Given the description of an element on the screen output the (x, y) to click on. 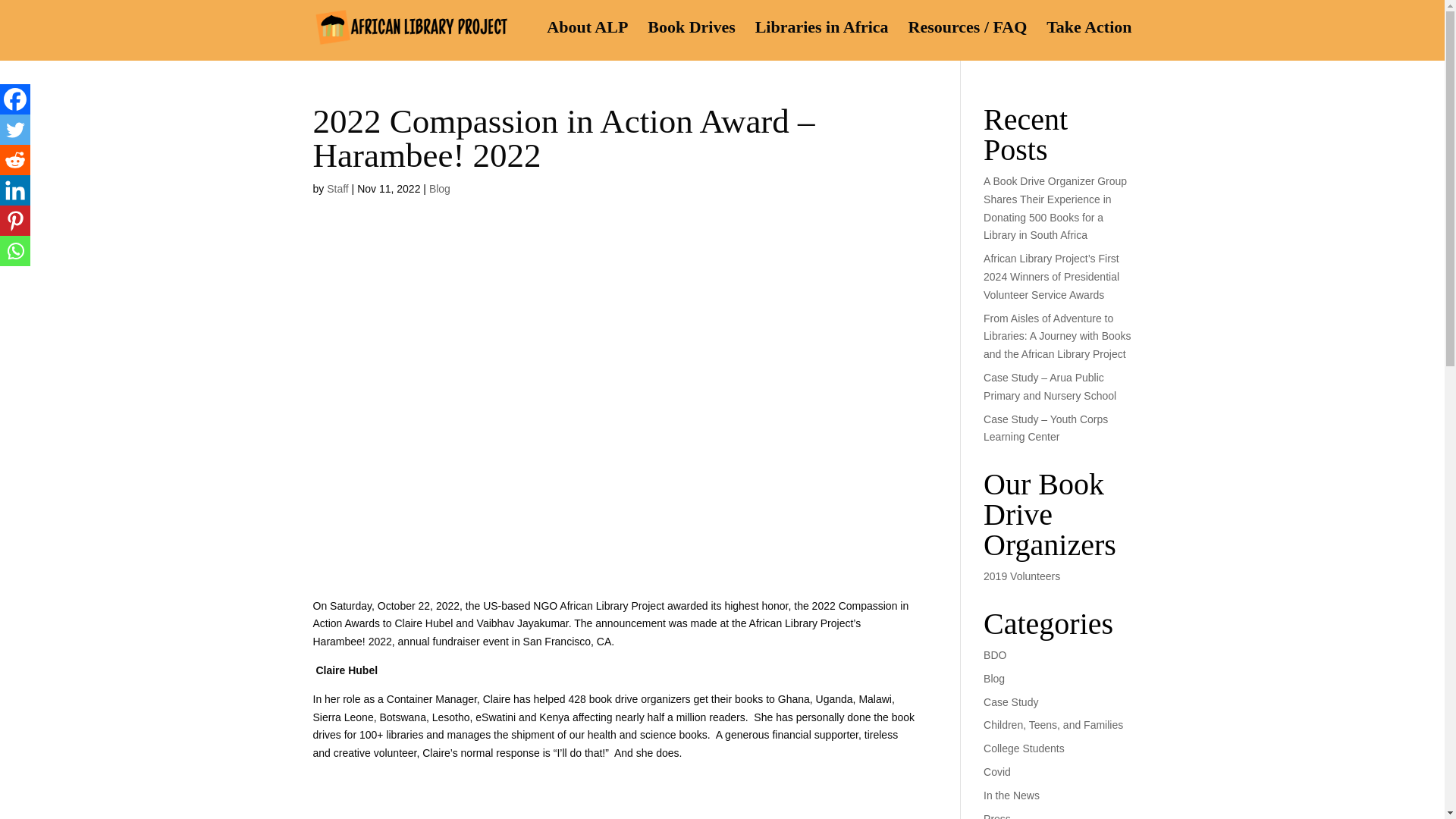
Facebook (15, 99)
2019 Volunteers (1021, 576)
Book Drives (691, 38)
Posts by Staff (337, 188)
Whatsapp (15, 250)
Blog (994, 678)
Case Study (1011, 702)
Take Action (1088, 38)
BDO (995, 654)
